Given the description of an element on the screen output the (x, y) to click on. 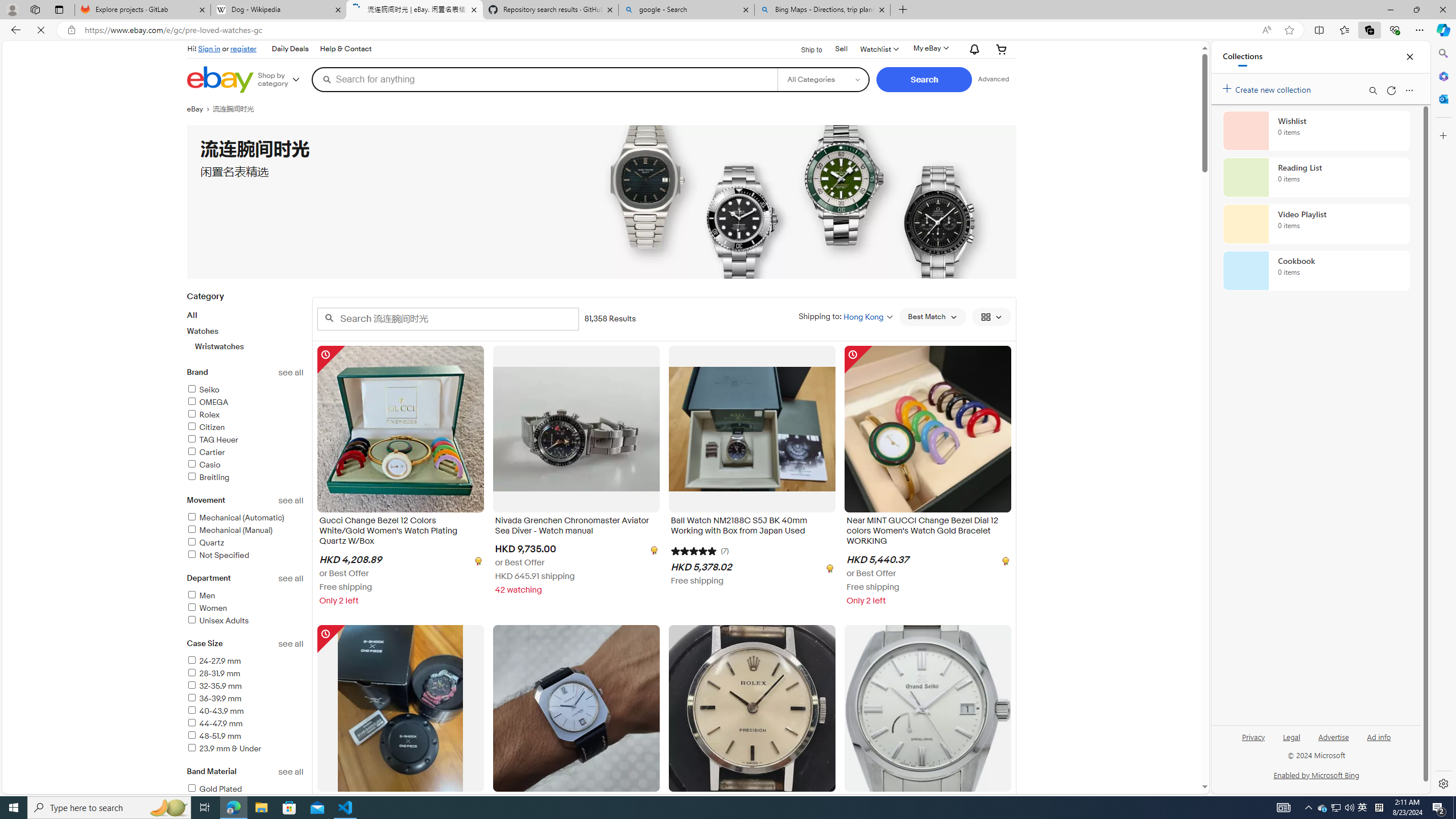
eBay (199, 108)
View: Gallery View (991, 316)
eBay Home (219, 79)
Advanced Search (993, 78)
Video Playlist collection, 0 items (1316, 223)
Shipping to: Hong Kong (845, 316)
